Given the description of an element on the screen output the (x, y) to click on. 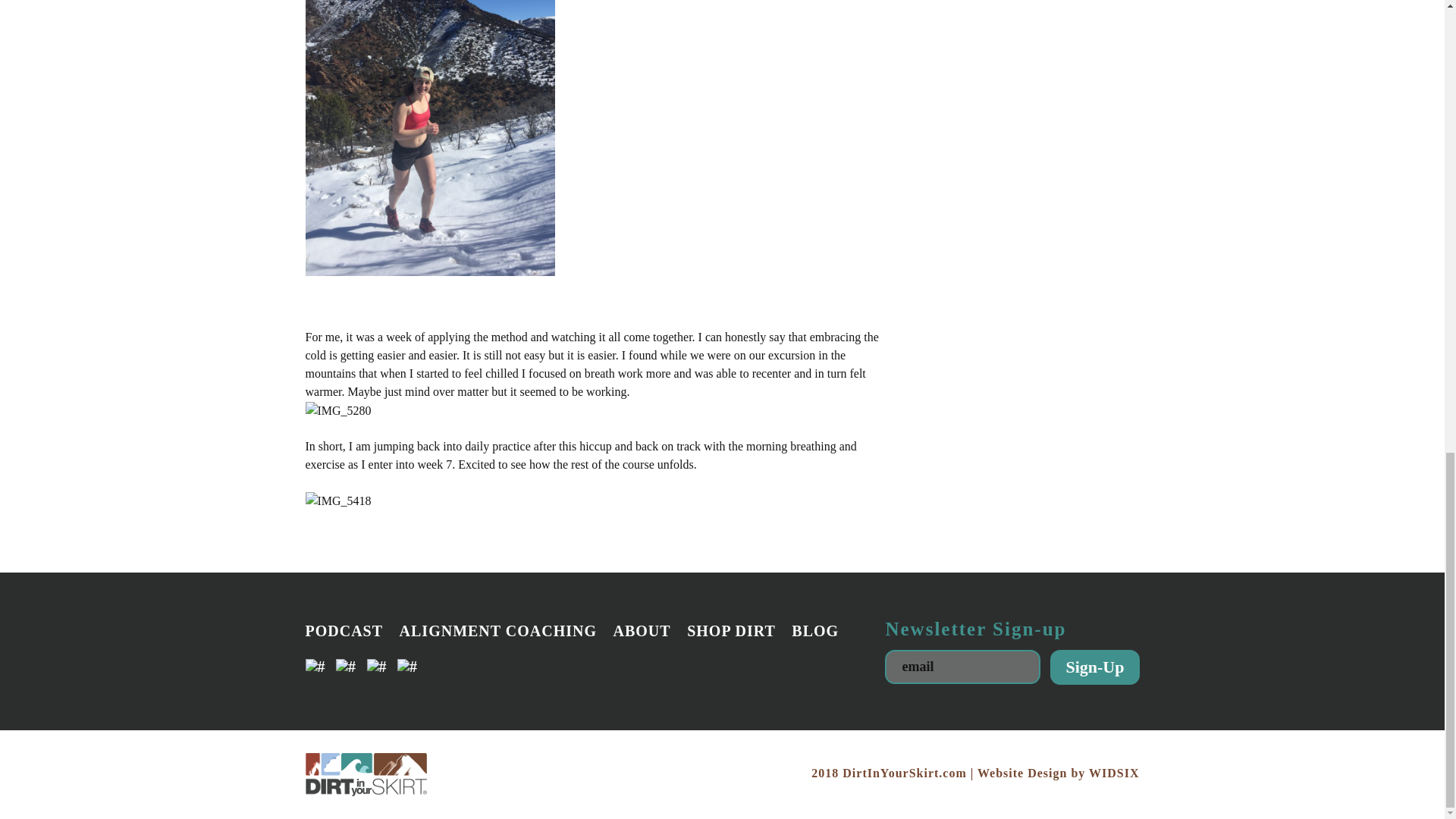
SHOP DIRT (731, 630)
ABOUT (641, 630)
Sign-Up (1093, 667)
Sign-Up (1093, 667)
PODCAST (343, 630)
ALIGNMENT COACHING (497, 630)
BLOG (815, 630)
